Given the description of an element on the screen output the (x, y) to click on. 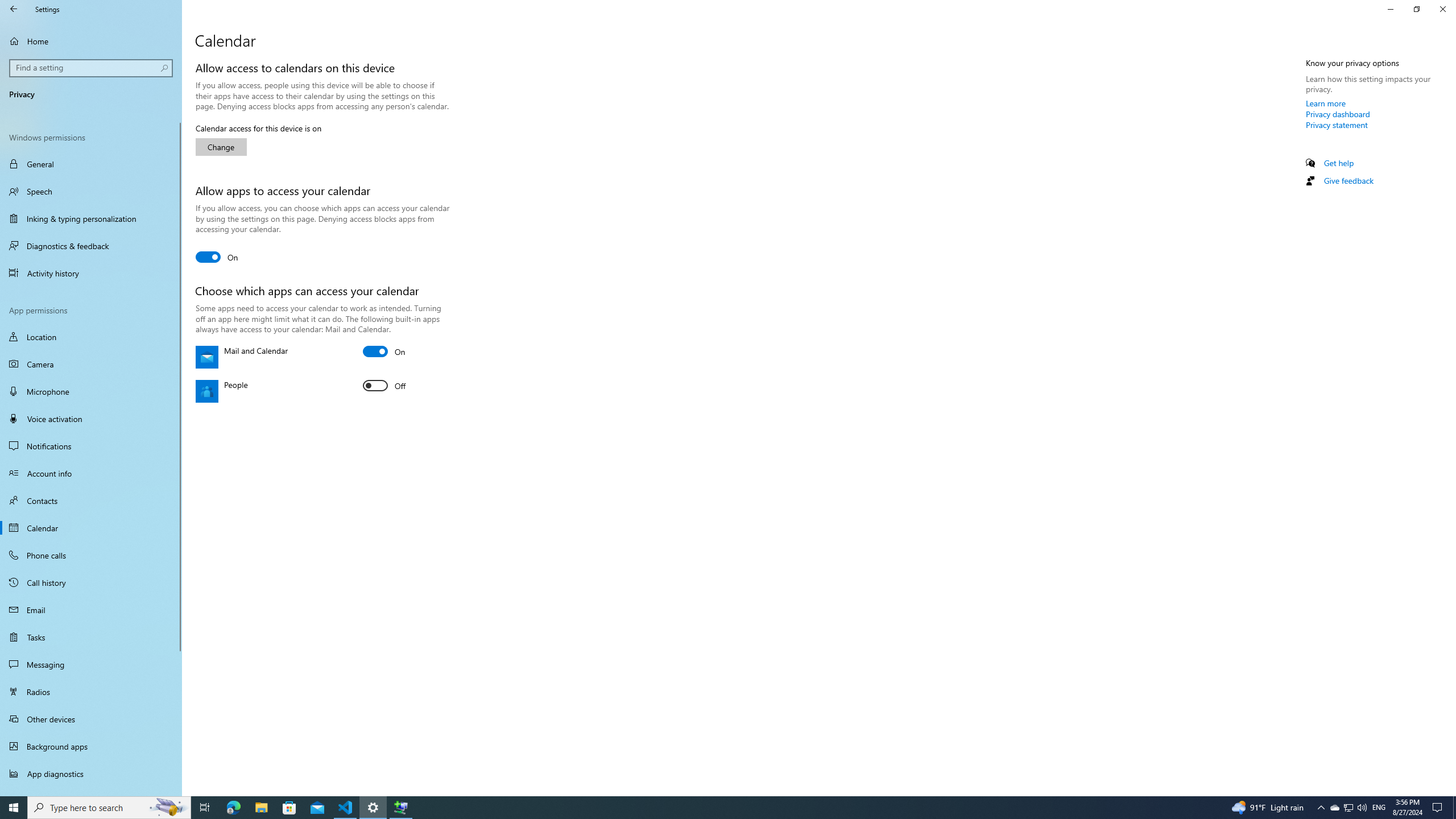
Inking & typing personalization (91, 217)
Give feedback (1348, 180)
Speech (91, 190)
Diagnostics & feedback (91, 245)
Background apps (91, 746)
Location (91, 336)
